Given the description of an element on the screen output the (x, y) to click on. 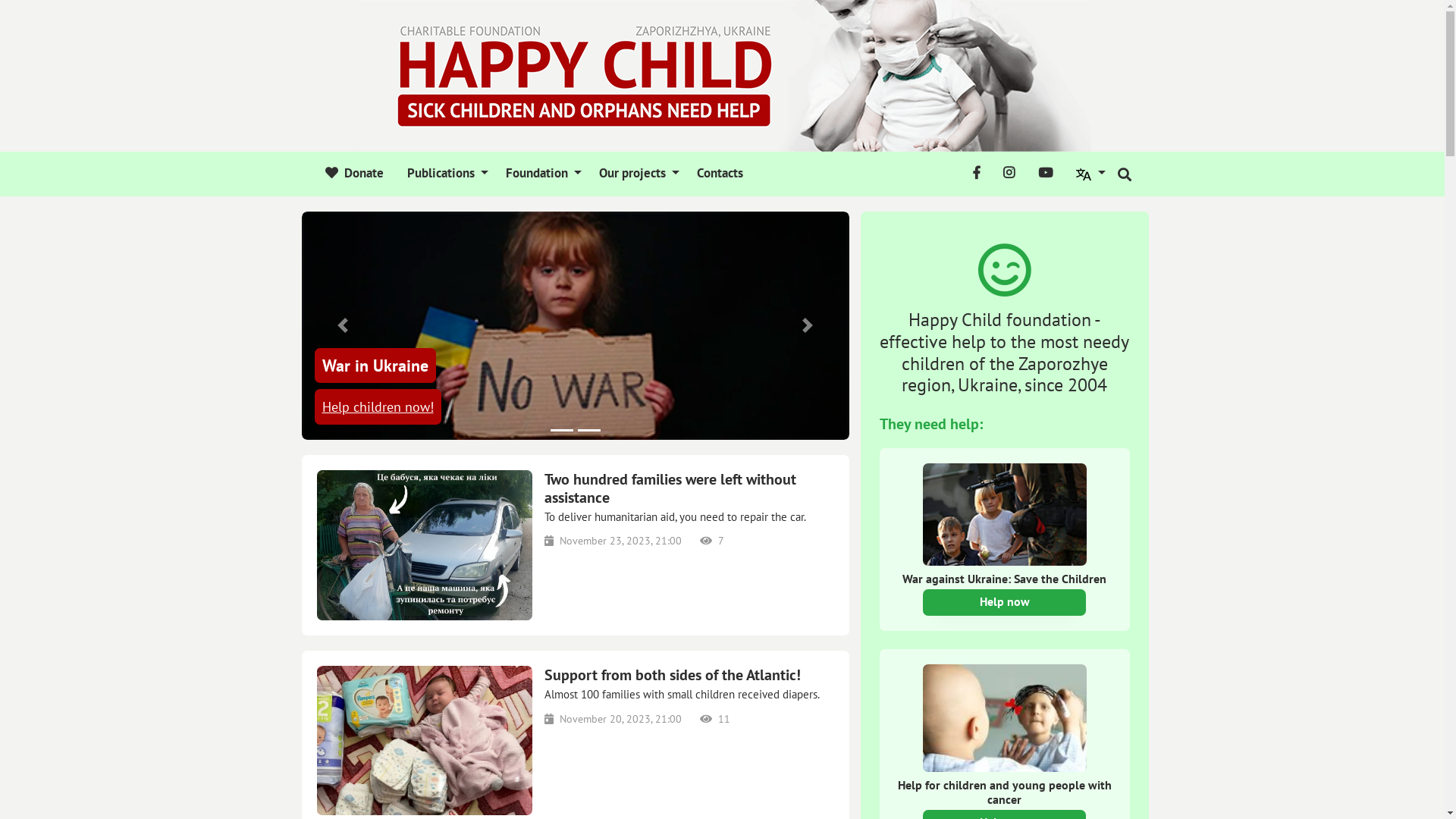
Contacts Element type: text (717, 173)
They need help: Element type: text (930, 423)
Help children now! Element type: text (376, 406)
Foundation Element type: text (540, 173)
Help now Element type: text (1003, 602)
Our projects Element type: text (636, 173)
Previous Element type: text (342, 325)
War against Ukraine: Save the Children Element type: text (1004, 590)
Publications Element type: text (444, 173)
Donate Element type: text (354, 173)
Two hundred families were left without assistance Element type: text (689, 488)
Support from both sides of the Atlantic! Element type: text (689, 674)
Next Element type: text (807, 325)
